Given the description of an element on the screen output the (x, y) to click on. 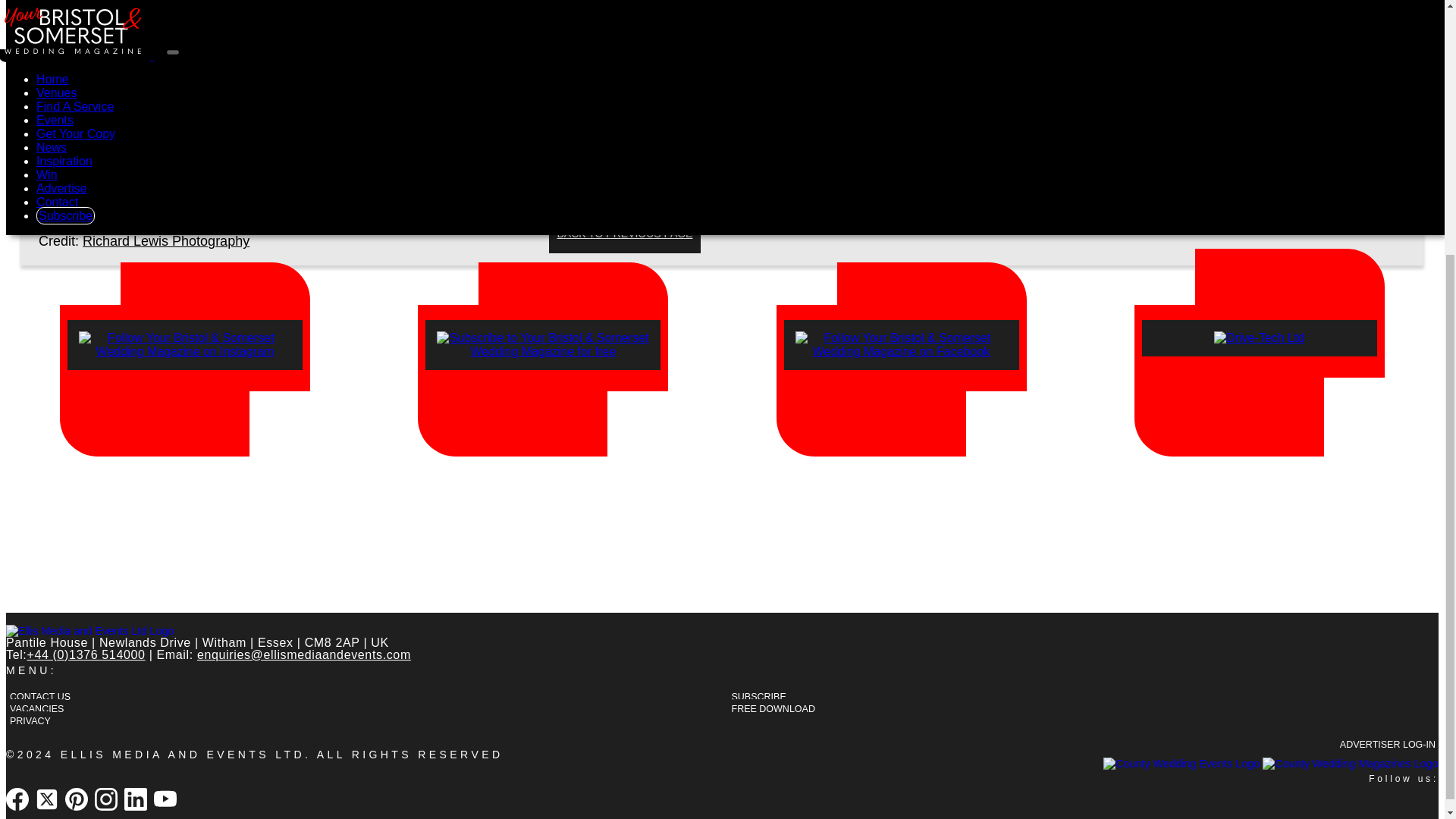
SUBSCRIBE (759, 696)
VACANCIES (35, 708)
BACK TO PREVIOUS PAGE (624, 234)
CONTACT US (39, 696)
PRIVACY (30, 720)
berwicklodge.co.uk (764, 111)
Richard Lewis Photography (165, 240)
FREE DOWNLOAD (773, 708)
ELLIS MEDIA AND EVENTS LTD (182, 754)
Back to previous page (624, 234)
